Given the description of an element on the screen output the (x, y) to click on. 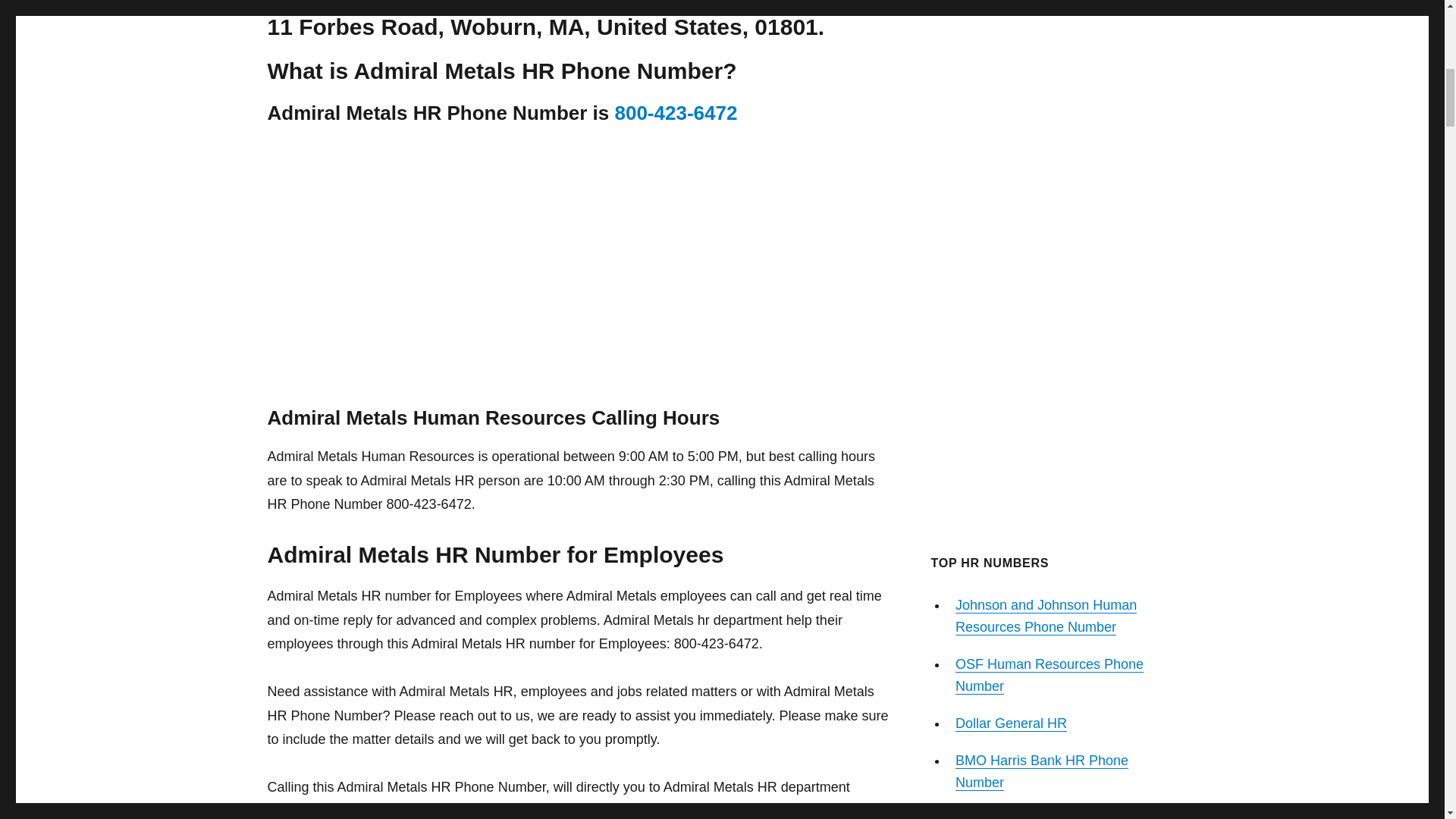
Johnson and Johnson Human Resources Phone Number (1046, 615)
BMO Harris Bank HR Phone Number (1041, 771)
Dollar General HR (1011, 723)
Amazon HR Phone Number (1039, 815)
800-423-6472 (675, 112)
OSF Human Resources Phone Number (1048, 674)
